Given the description of an element on the screen output the (x, y) to click on. 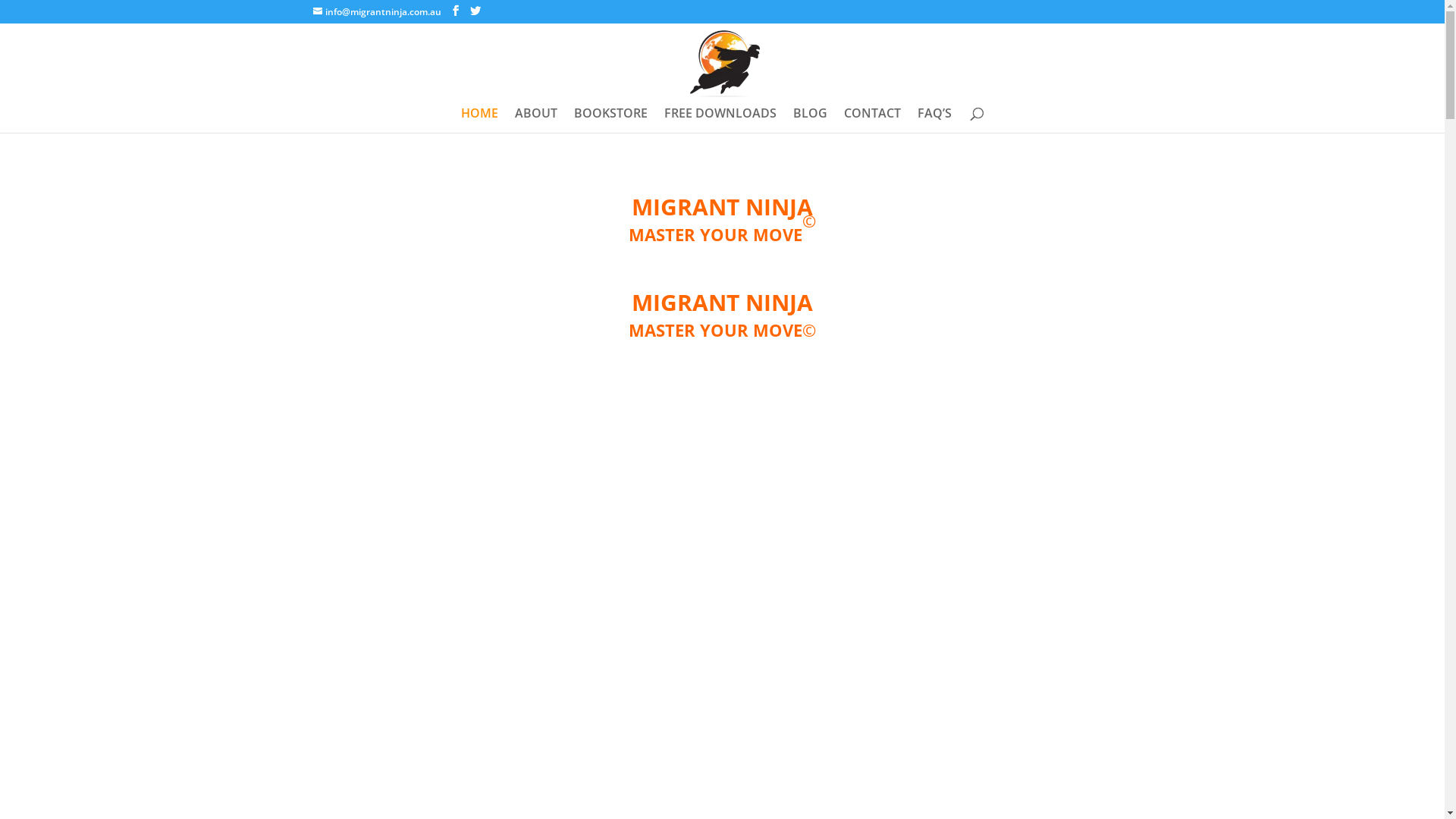
HOME Element type: text (479, 119)
info@migrantninja.com.au Element type: text (376, 11)
ABOUT Element type: text (535, 119)
BLOG Element type: text (810, 119)
FREE DOWNLOADS Element type: text (720, 119)
BOOKSTORE Element type: text (610, 119)
CONTACT Element type: text (872, 119)
